Given the description of an element on the screen output the (x, y) to click on. 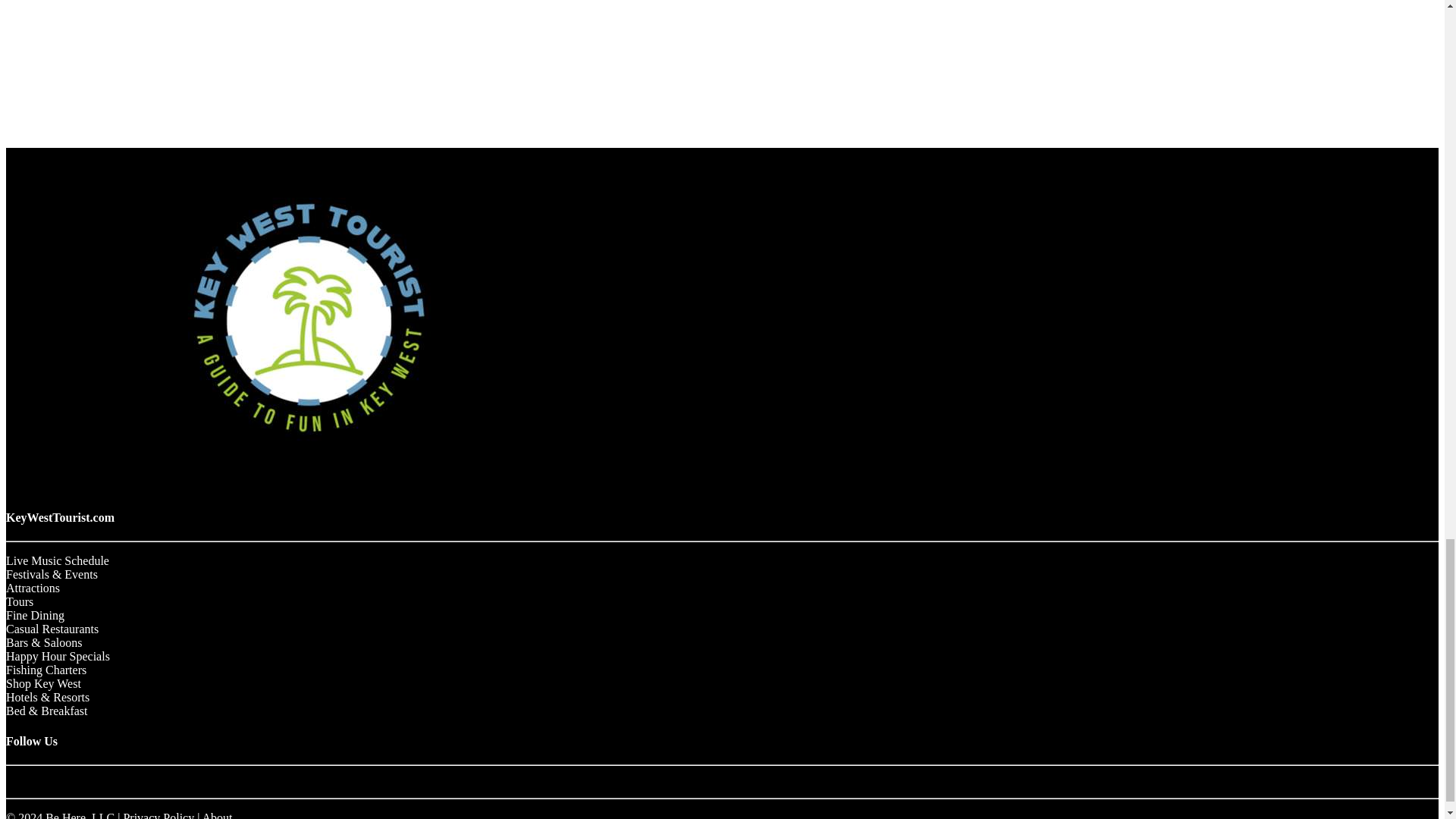
Key West Tourist (308, 473)
Happy Hour Specials (57, 656)
Attractions (32, 587)
Fishing Charters (45, 669)
Live Music Schedule (57, 560)
Fine Dining (34, 615)
Casual Restaurants (52, 628)
Shop Key West (43, 683)
Tours (19, 601)
